Given the description of an element on the screen output the (x, y) to click on. 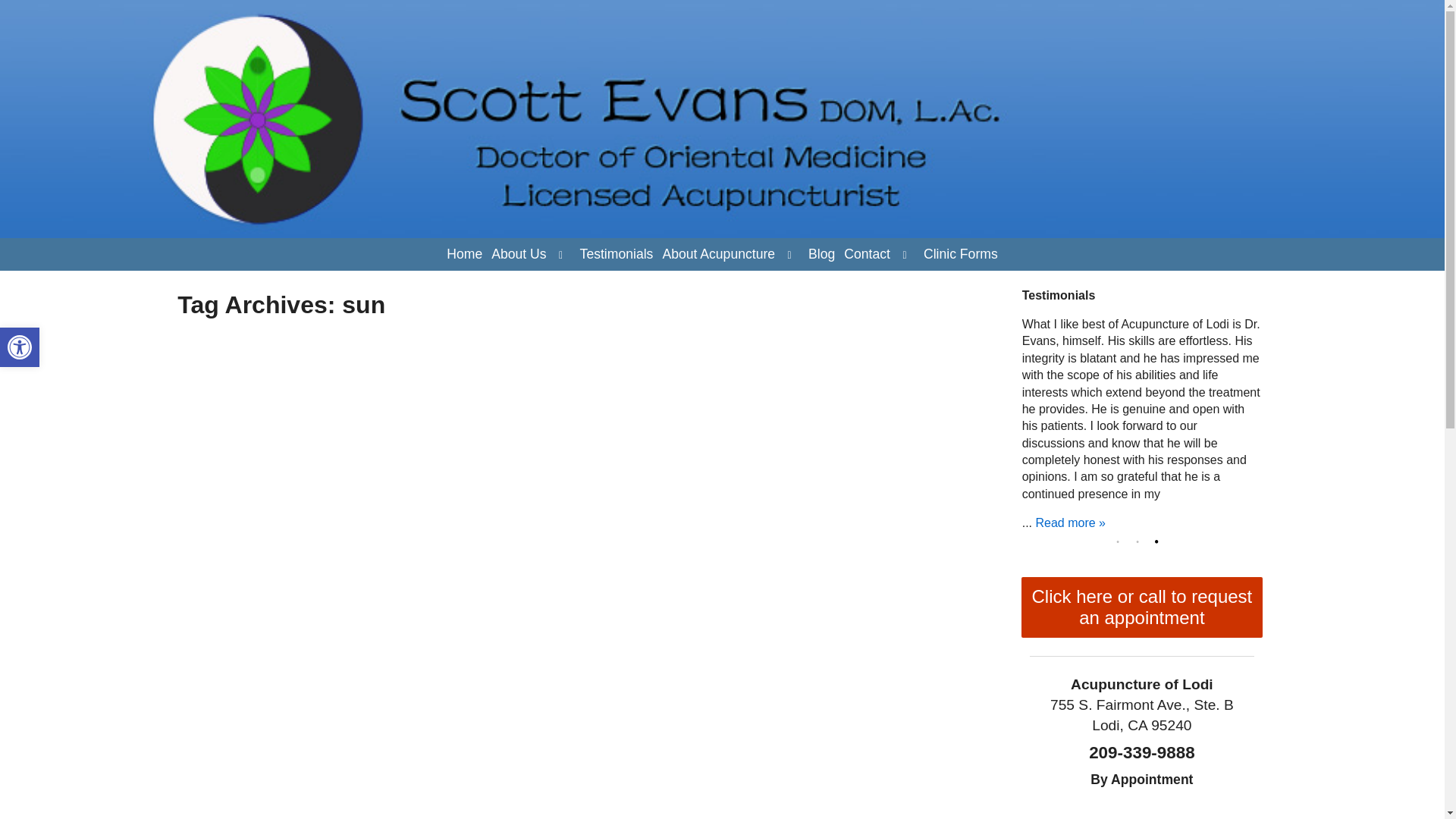
Testimonials (616, 254)
Go to slide 1 (19, 346)
Blog (1120, 541)
Go to slide 2 (821, 254)
Accessibility Tools (1140, 541)
Accessibility Tools (19, 346)
Home (19, 346)
Contact (464, 254)
About Acupuncture (867, 254)
Go to slide 3 (718, 254)
About Us (1160, 541)
Clinic Forms (518, 254)
Click here or call to request an appointment (960, 254)
